Given the description of an element on the screen output the (x, y) to click on. 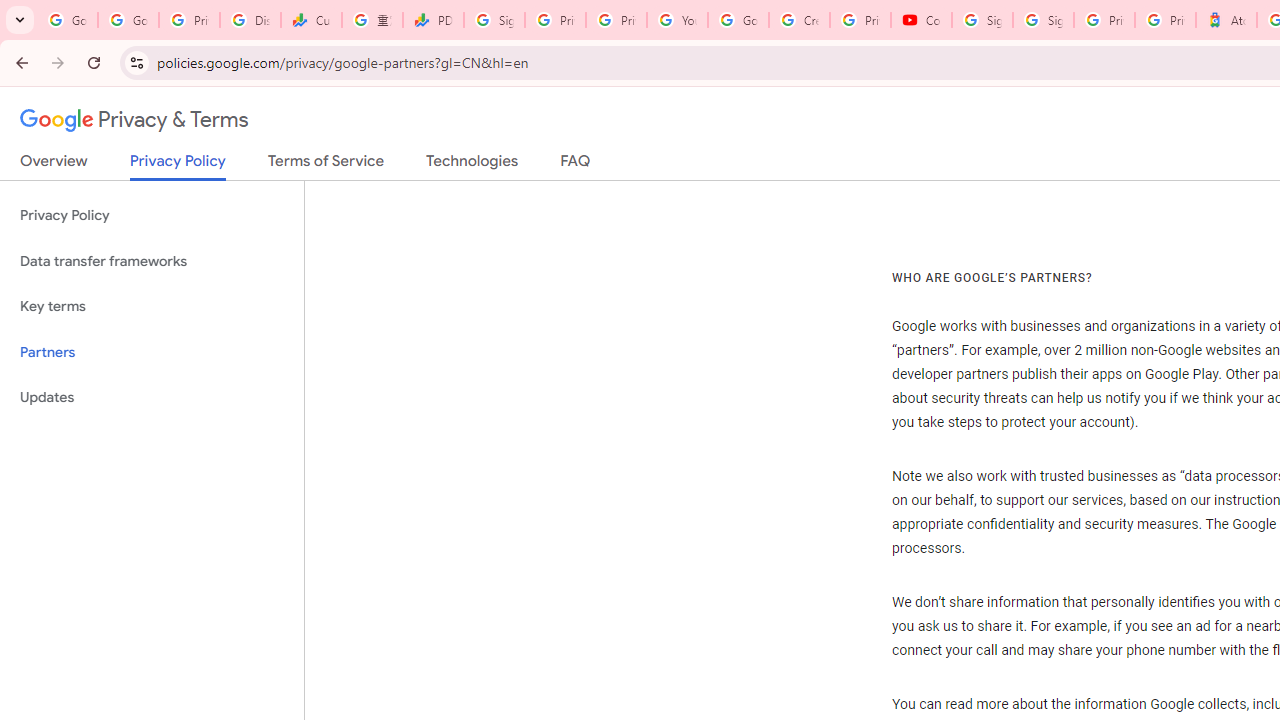
Create your Google Account (799, 20)
Currencies - Google Finance (310, 20)
YouTube (676, 20)
Google Workspace Admin Community (67, 20)
Atour Hotel - Google hotels (1225, 20)
PDD Holdings Inc - ADR (PDD) Price & News - Google Finance (433, 20)
Data transfer frameworks (152, 261)
Sign in - Google Accounts (982, 20)
Technologies (472, 165)
Privacy & Terms (134, 120)
